Given the description of an element on the screen output the (x, y) to click on. 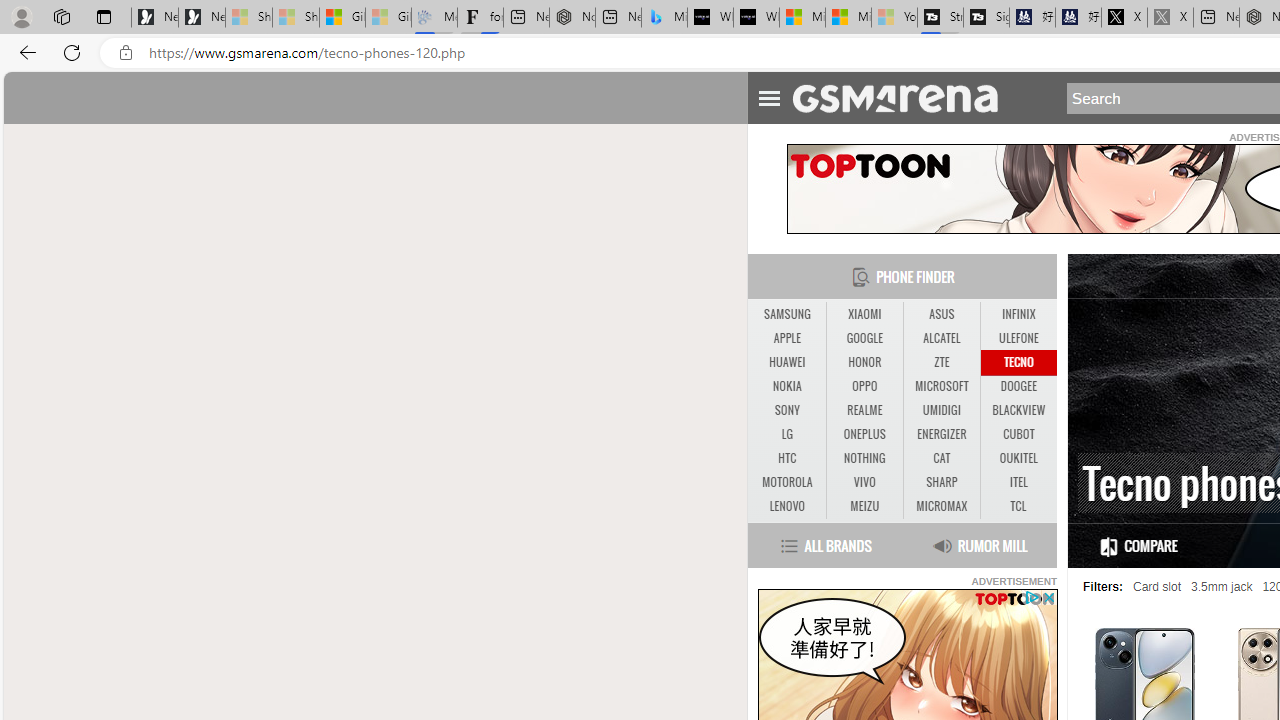
ASUS (941, 314)
AutomationID: close_button_svg (1048, 596)
MICROSOFT (941, 385)
Microsoft Start Sports (802, 17)
Newsletter Sign Up (202, 17)
SAMSUNG (786, 313)
SHARP (941, 483)
Streaming Coverage | T3 (939, 17)
HUAWEI (786, 362)
NOKIA (786, 385)
ENERGIZER (941, 434)
LENOVO (786, 506)
